Given the description of an element on the screen output the (x, y) to click on. 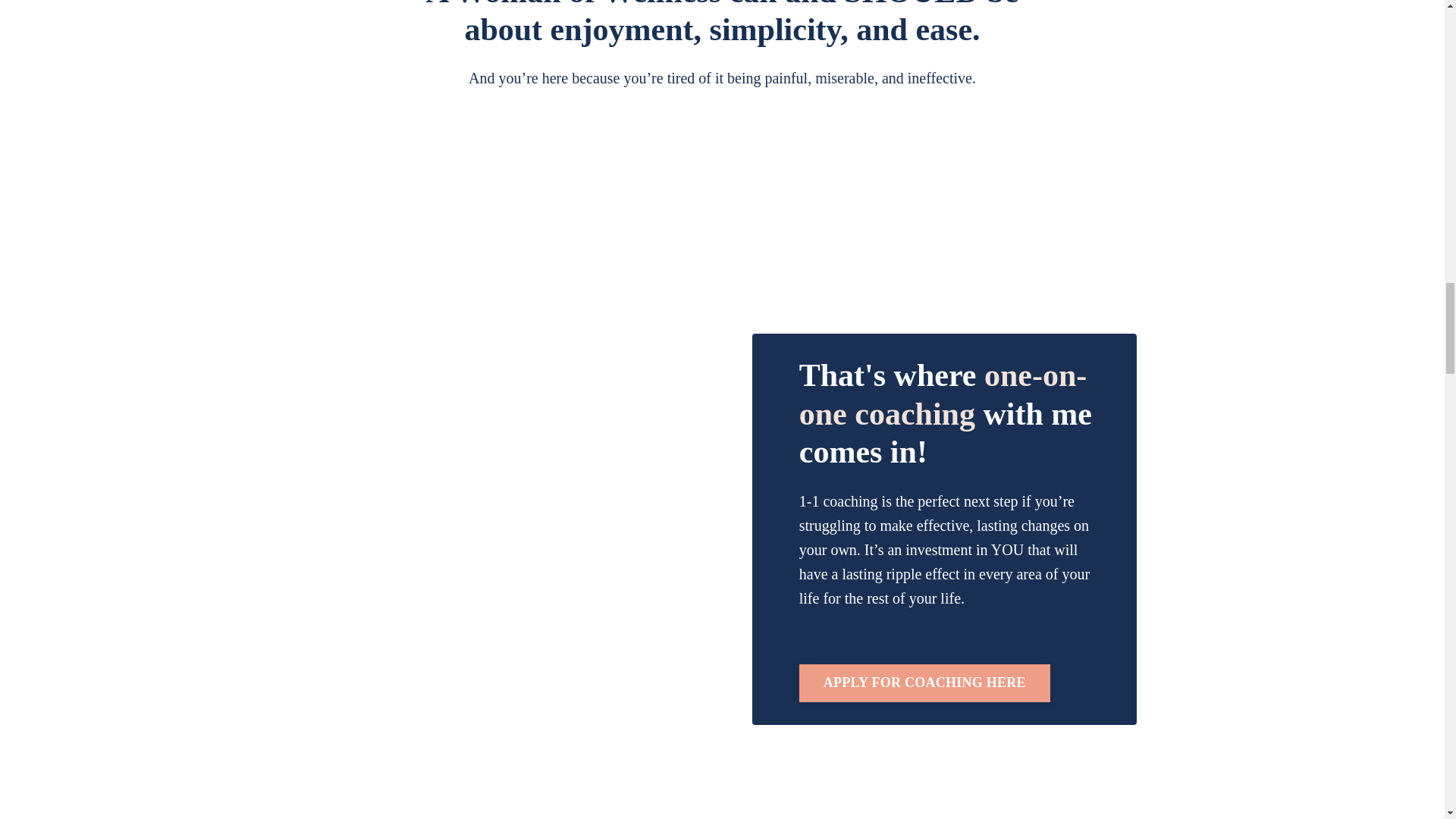
APPLY FOR COACHING HERE (924, 682)
